Given the description of an element on the screen output the (x, y) to click on. 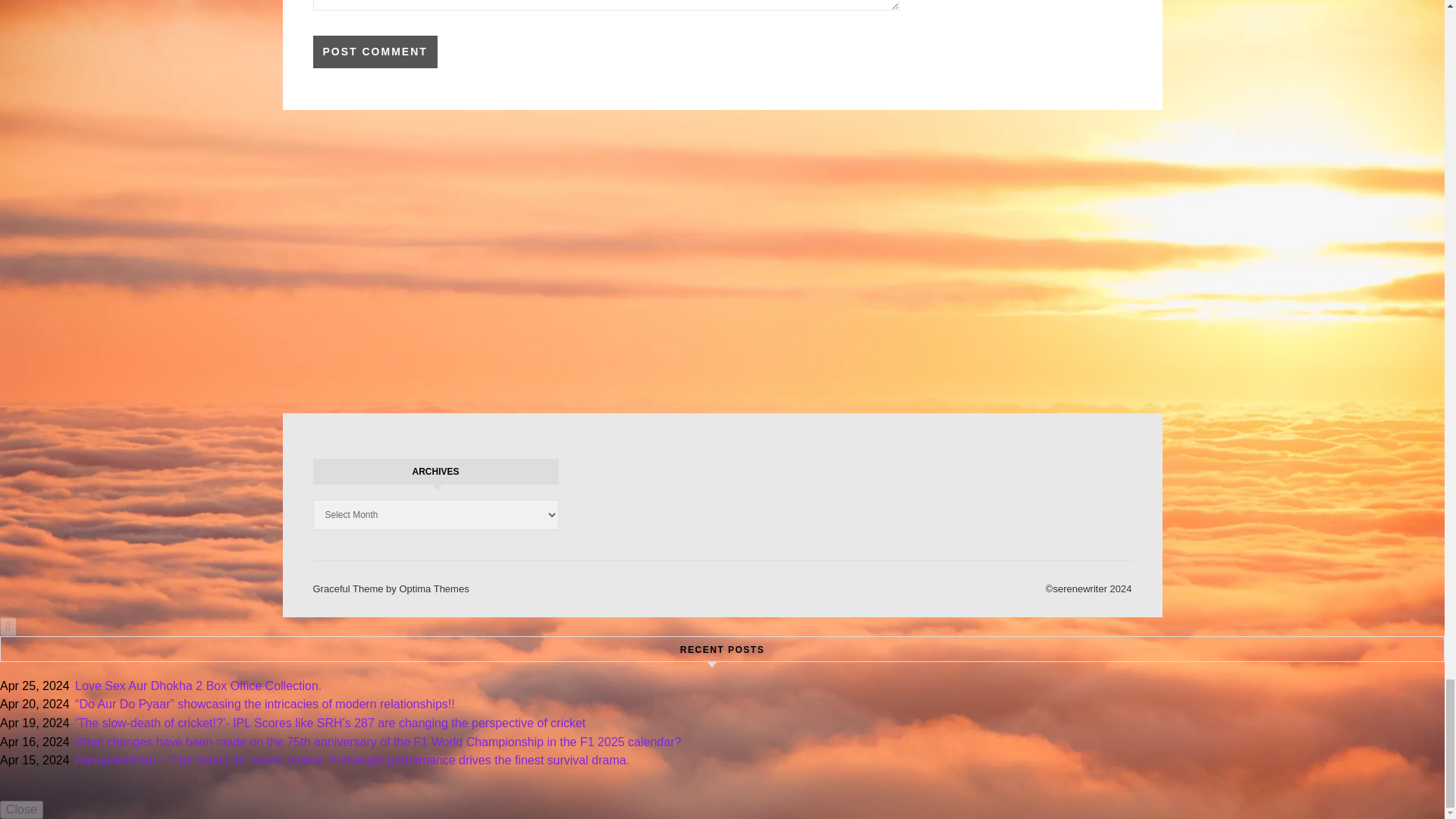
Post Comment (374, 51)
Post Comment (374, 51)
